Given the description of an element on the screen output the (x, y) to click on. 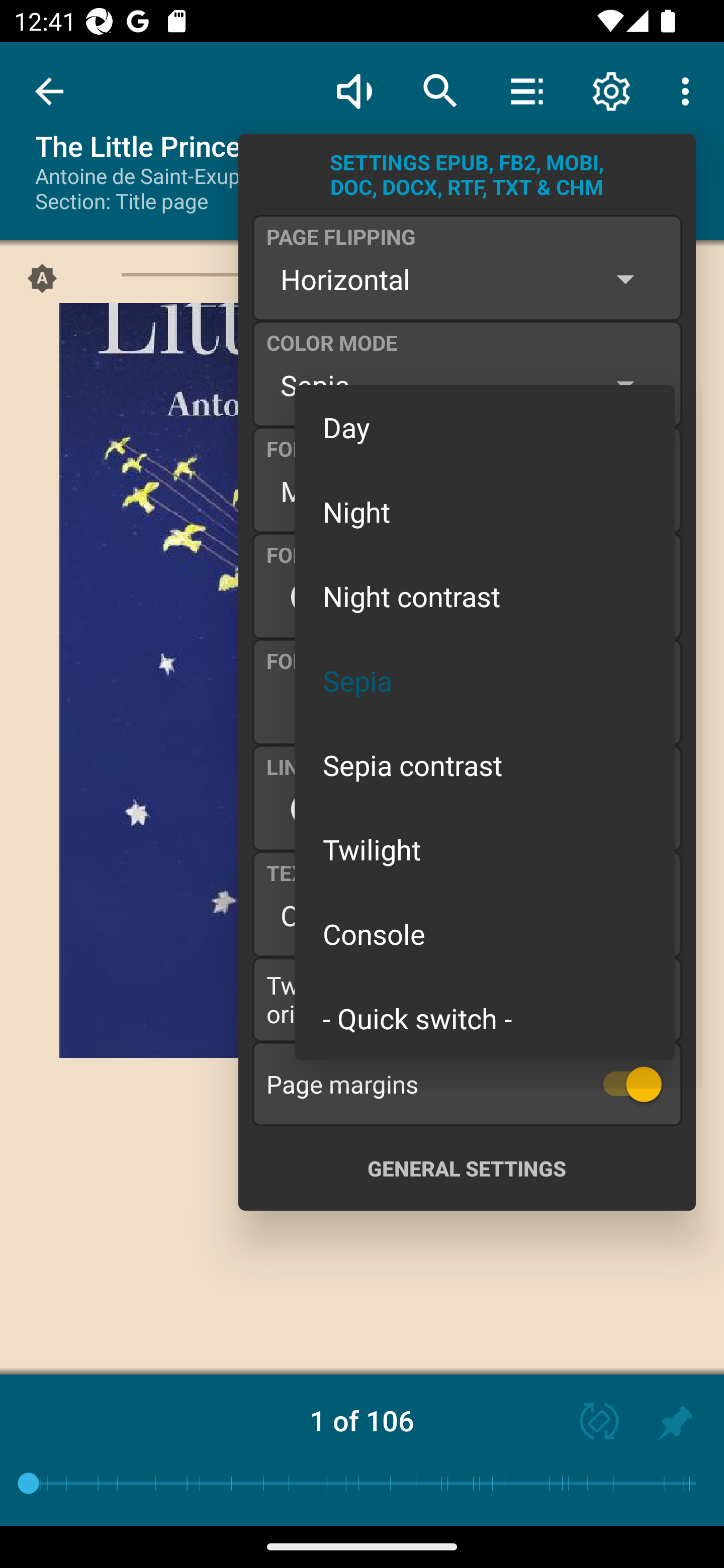
Day (484, 426)
Night (484, 510)
Night contrast (484, 595)
Sepia (484, 680)
Sepia contrast (484, 764)
Twilight (484, 849)
Console (484, 933)
- Quick switch - (484, 1017)
